Given the description of an element on the screen output the (x, y) to click on. 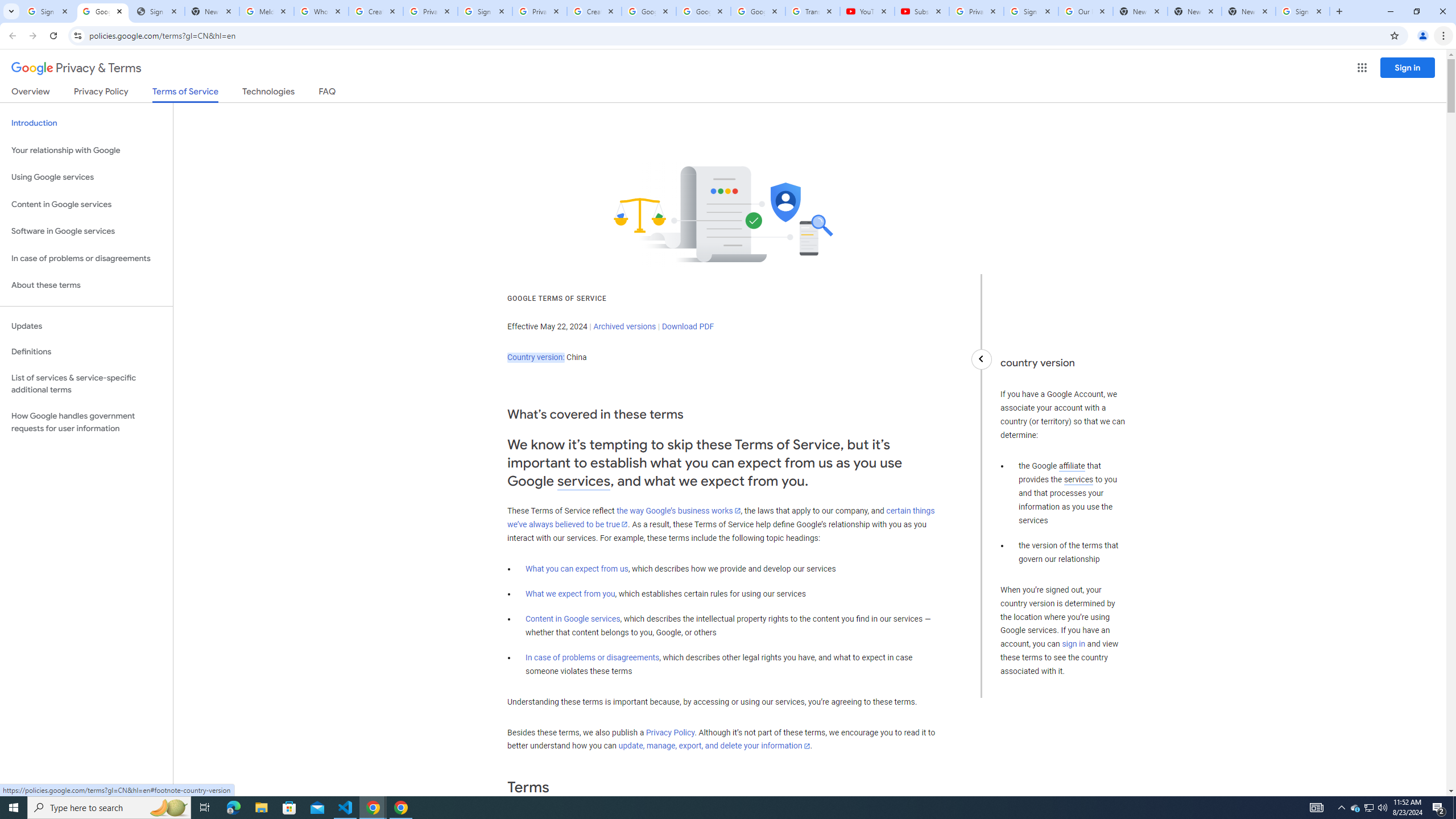
Sign in - Google Accounts (484, 11)
Privacy & Terms (76, 68)
Your relationship with Google (86, 150)
Overview (30, 93)
update, manage, export, and delete your information (714, 746)
Archived versions (624, 326)
